Given the description of an element on the screen output the (x, y) to click on. 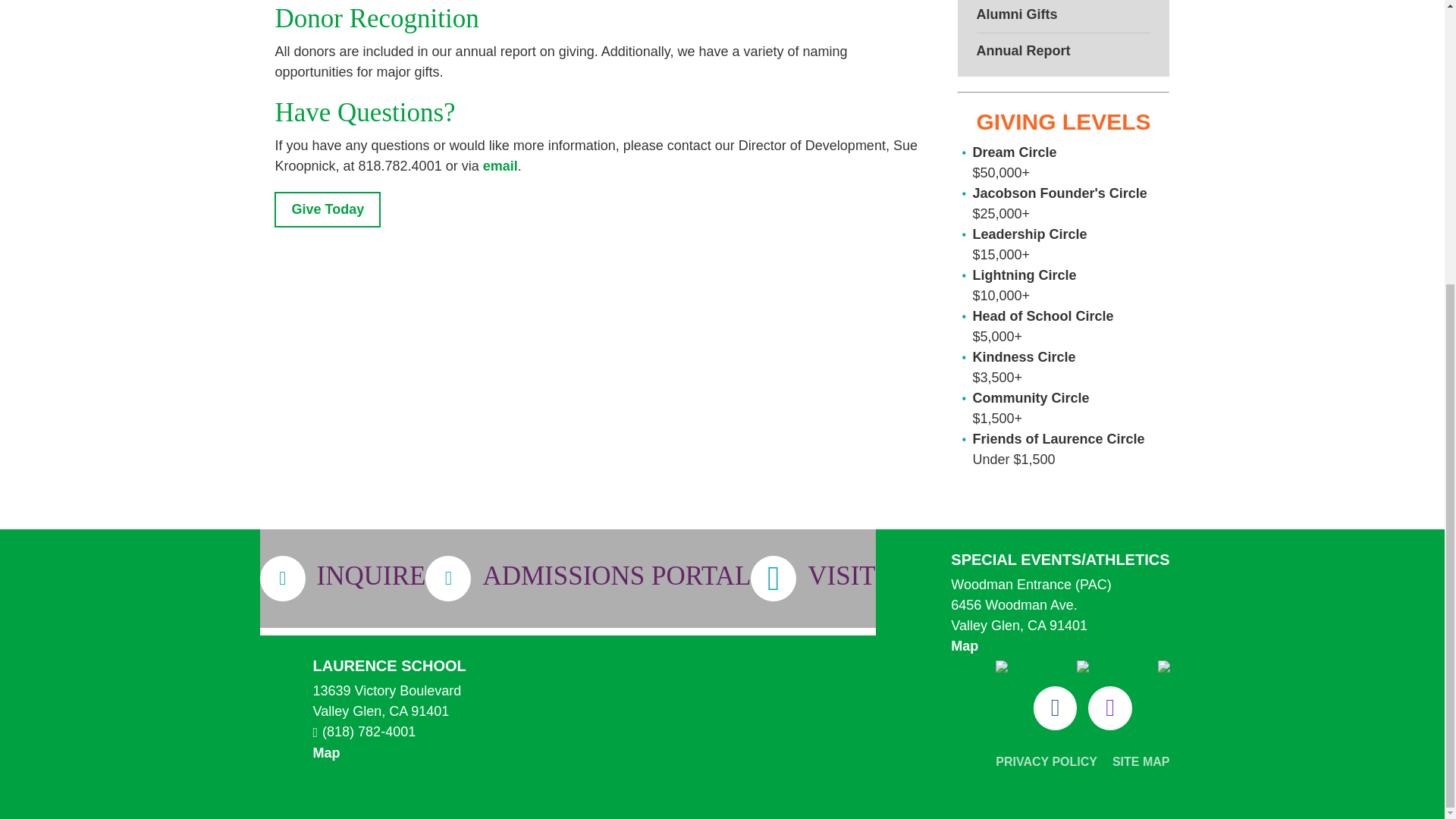
Powered by Finalsite opens in a new window (722, 793)
